Given the description of an element on the screen output the (x, y) to click on. 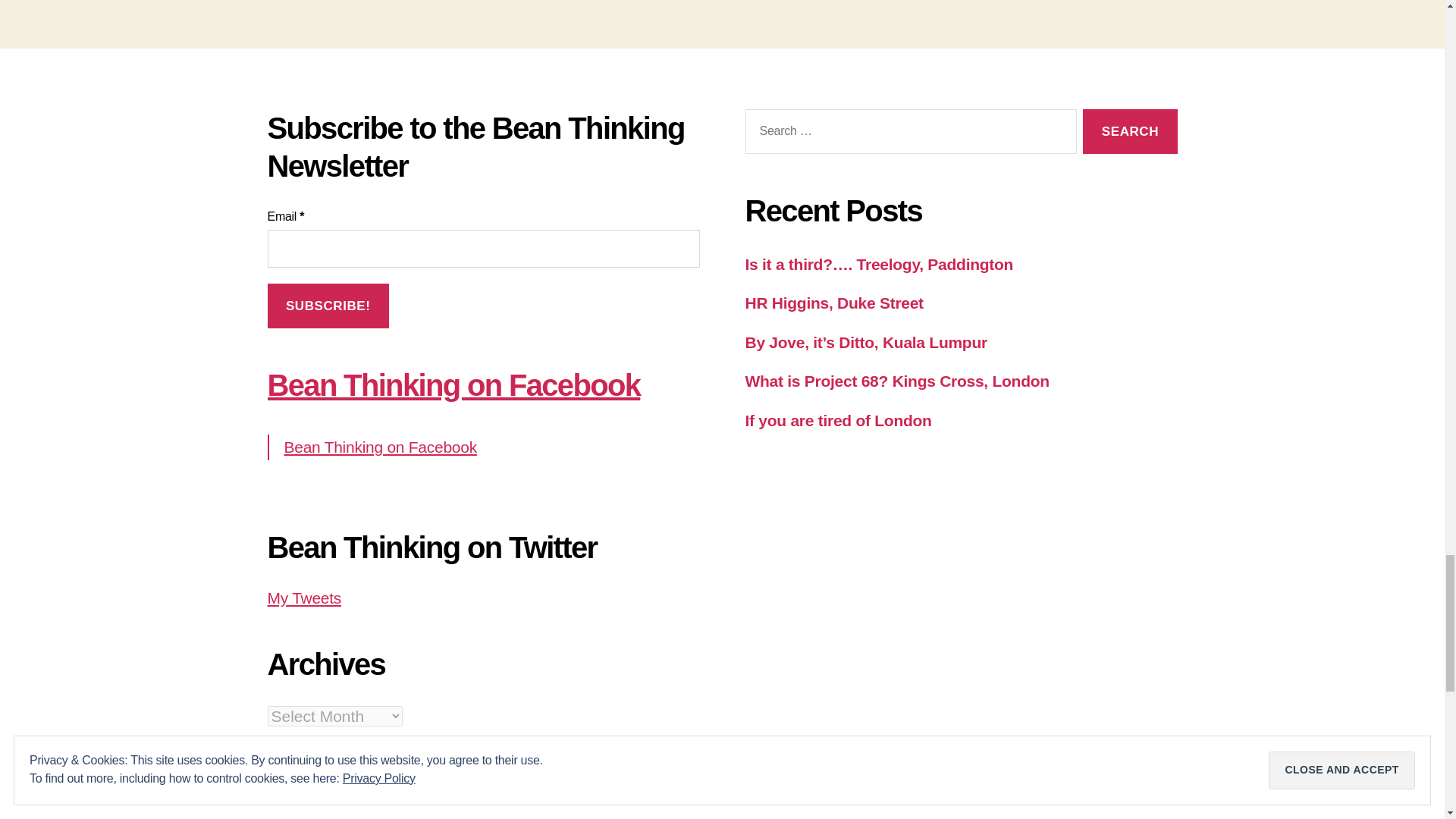
Email (482, 248)
Search (1129, 130)
Subscribe! (327, 305)
Search (1129, 130)
